Given the description of an element on the screen output the (x, y) to click on. 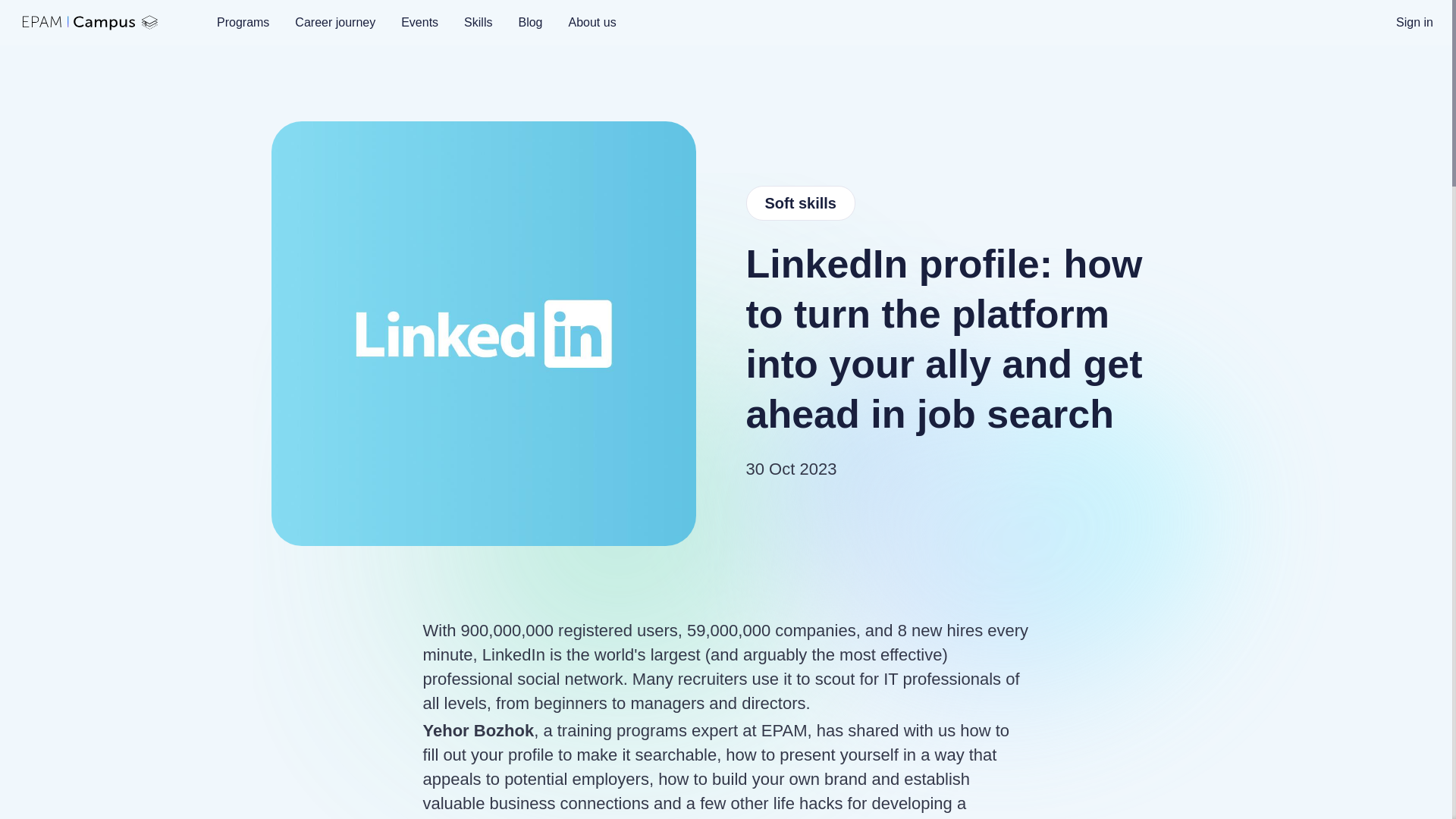
About us (591, 22)
Blog (529, 22)
Events (419, 22)
Skills (478, 22)
Career journey (335, 22)
Programs (242, 22)
